Given the description of an element on the screen output the (x, y) to click on. 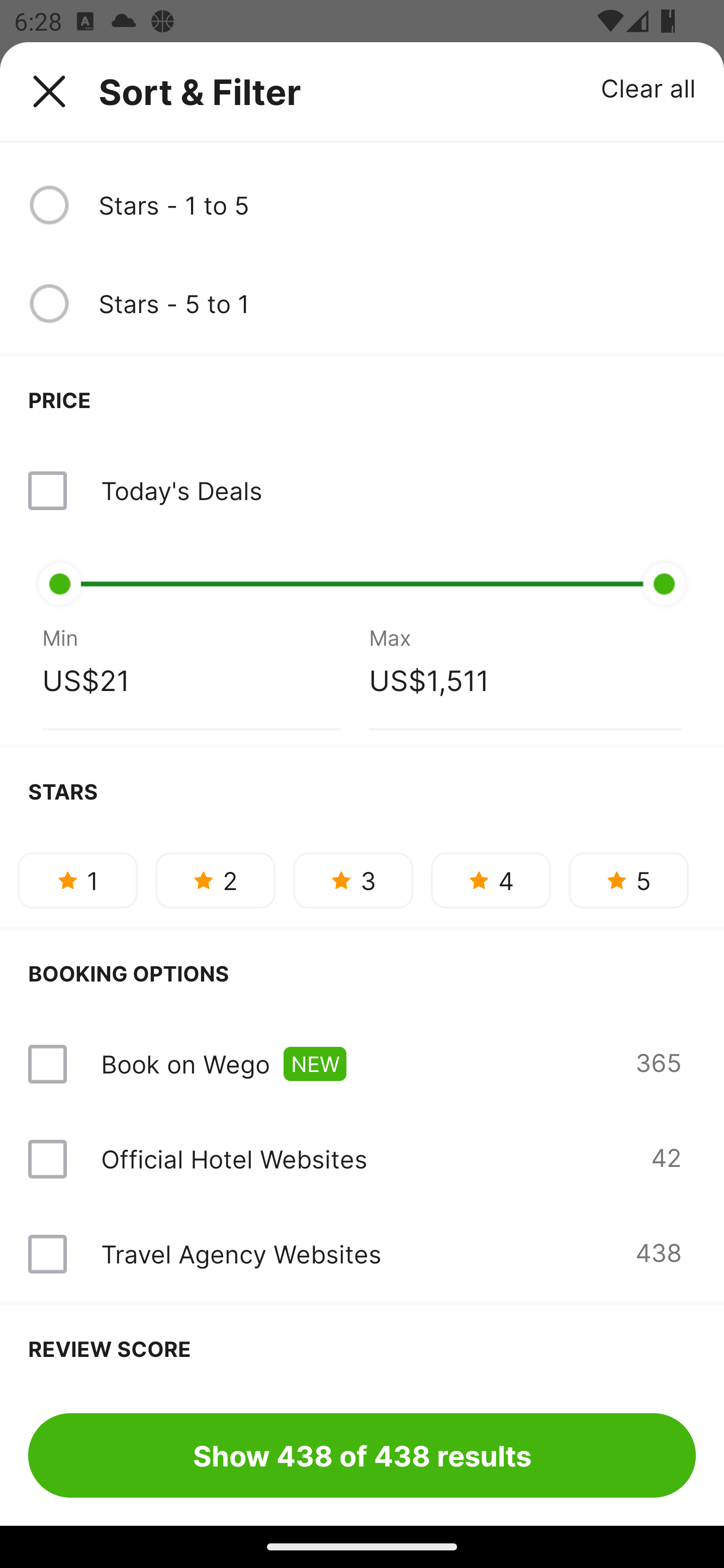
Clear all (648, 87)
Stars - 1 to 5 (396, 205)
Stars - 5 to 1 (396, 303)
Today's Deals (362, 490)
Today's Deals (181, 490)
1 (77, 879)
2 (214, 879)
3 (352, 879)
4 (491, 879)
5 (627, 879)
Book on Wego NEW 365 (362, 1063)
Book on Wego (184, 1063)
Official Hotel Websites 42 (362, 1159)
Official Hotel Websites (233, 1158)
Travel Agency Websites 438 (362, 1254)
Travel Agency Websites (240, 1253)
Show 438 of 438 results (361, 1454)
